Given the description of an element on the screen output the (x, y) to click on. 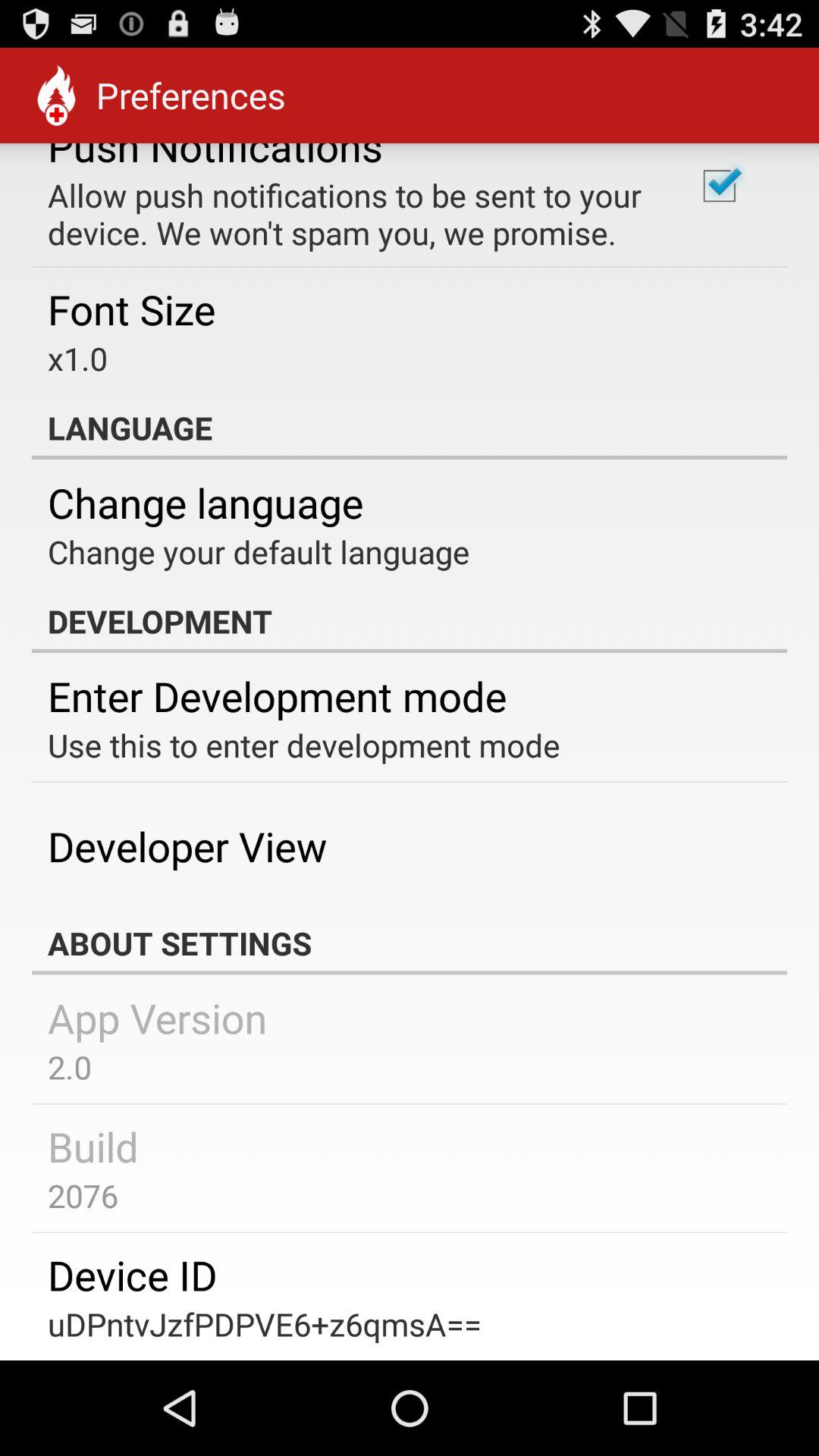
turn on the app above the language (719, 185)
